Given the description of an element on the screen output the (x, y) to click on. 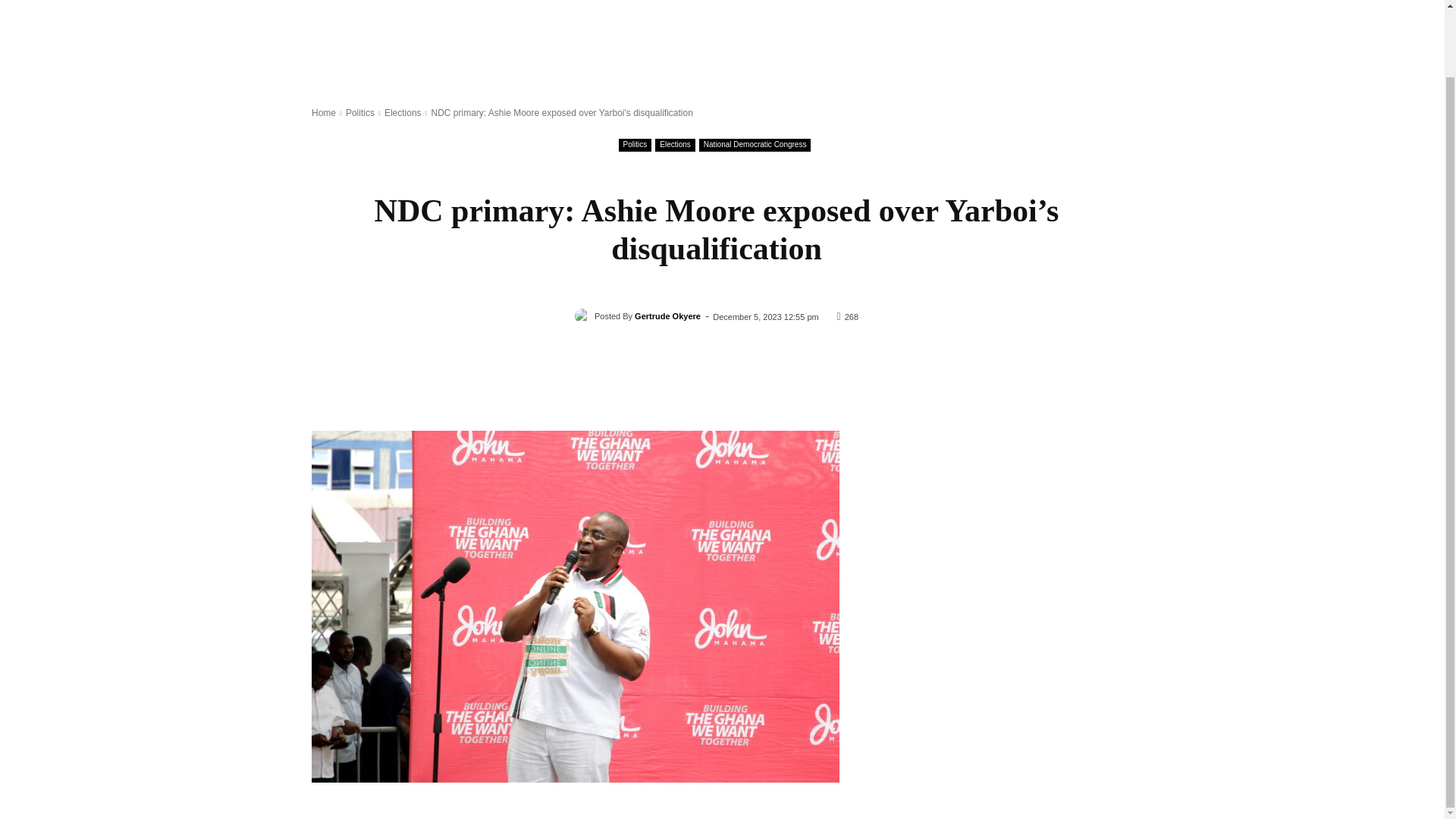
View all posts in Elections (403, 112)
Gertrude Okyere (584, 315)
View all posts in Politics (360, 112)
